Given the description of an element on the screen output the (x, y) to click on. 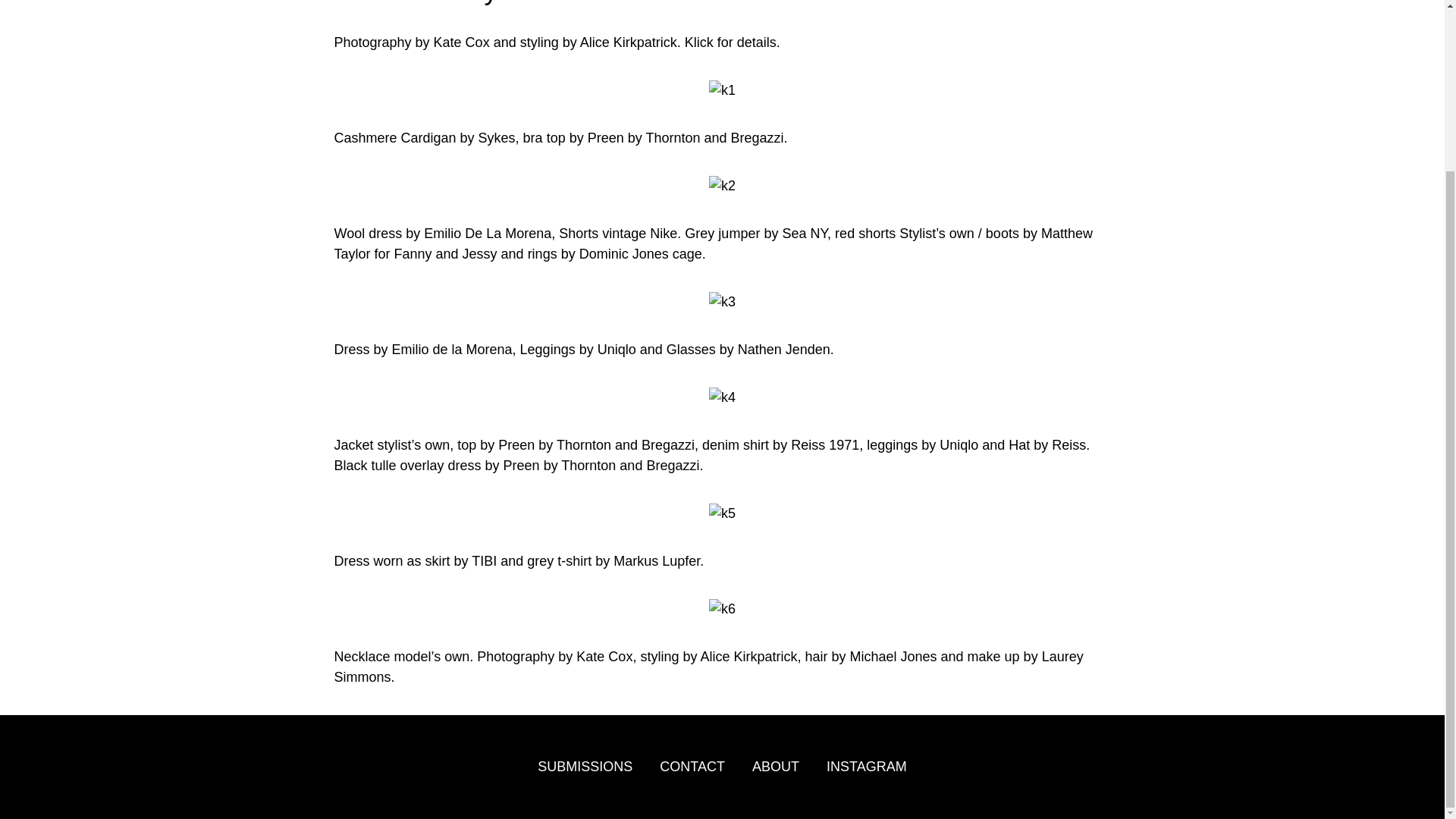
Our Instagram Page (867, 766)
INSTAGRAM (867, 766)
SUBMISSIONS (584, 766)
ABOUT (775, 766)
CONTACT (692, 766)
